Given the description of an element on the screen output the (x, y) to click on. 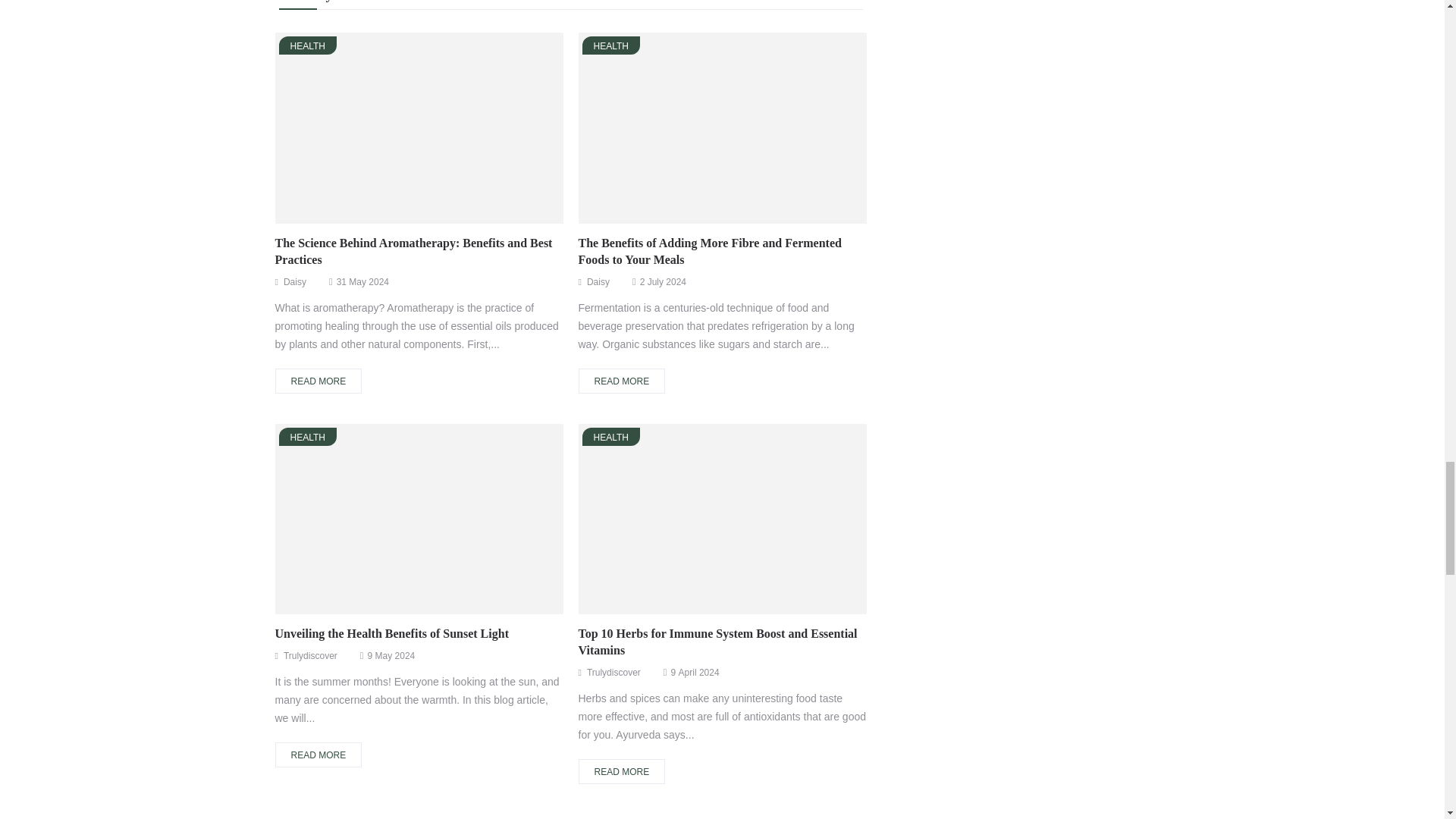
HEALTH (307, 45)
